Given the description of an element on the screen output the (x, y) to click on. 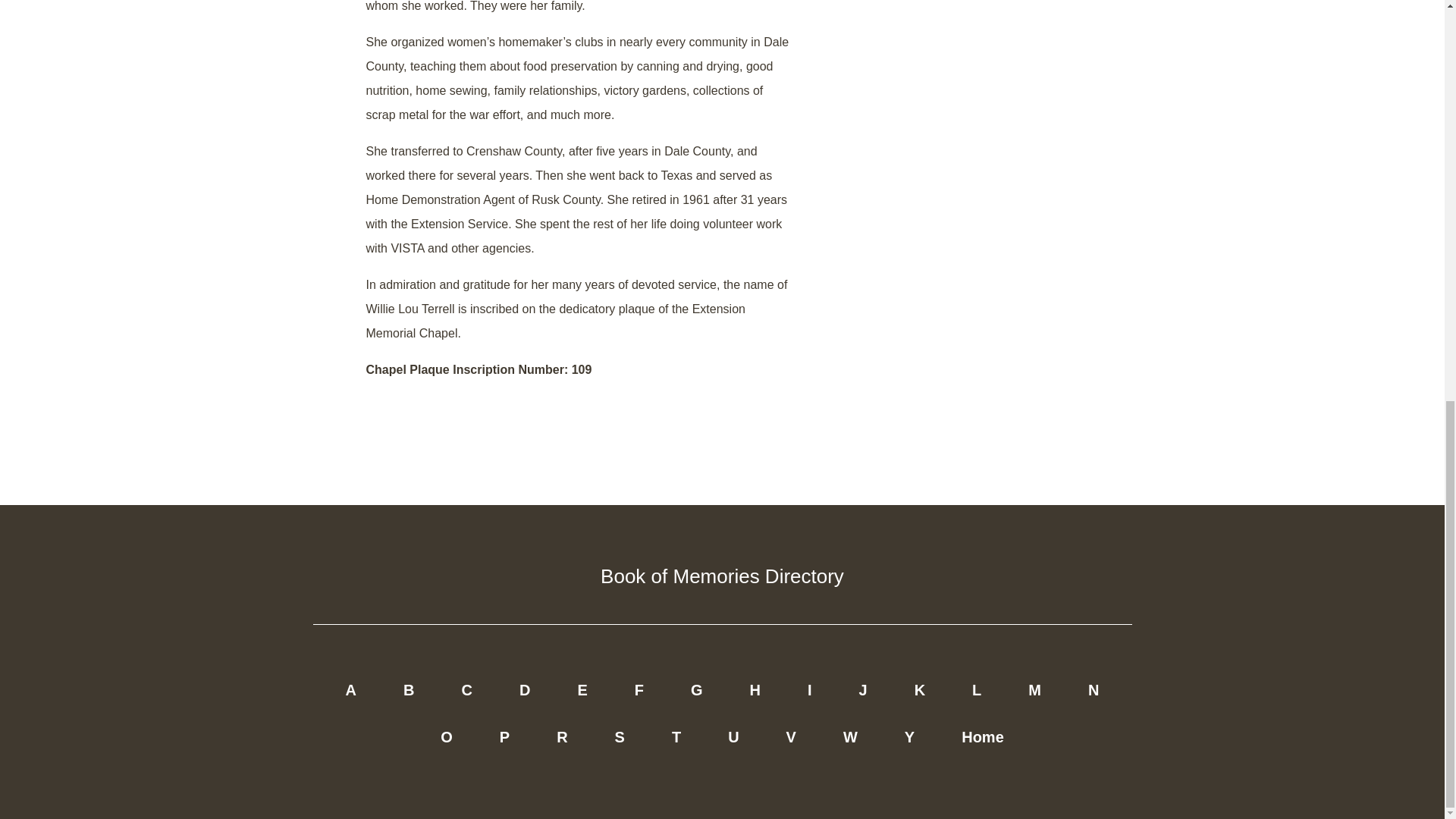
C (465, 689)
Y (909, 736)
S (619, 736)
M (1035, 689)
D (523, 689)
A (350, 689)
V (790, 736)
L (975, 689)
F (639, 689)
P (504, 736)
B (408, 689)
J (863, 689)
H (753, 689)
O (446, 736)
R (561, 736)
